Given the description of an element on the screen output the (x, y) to click on. 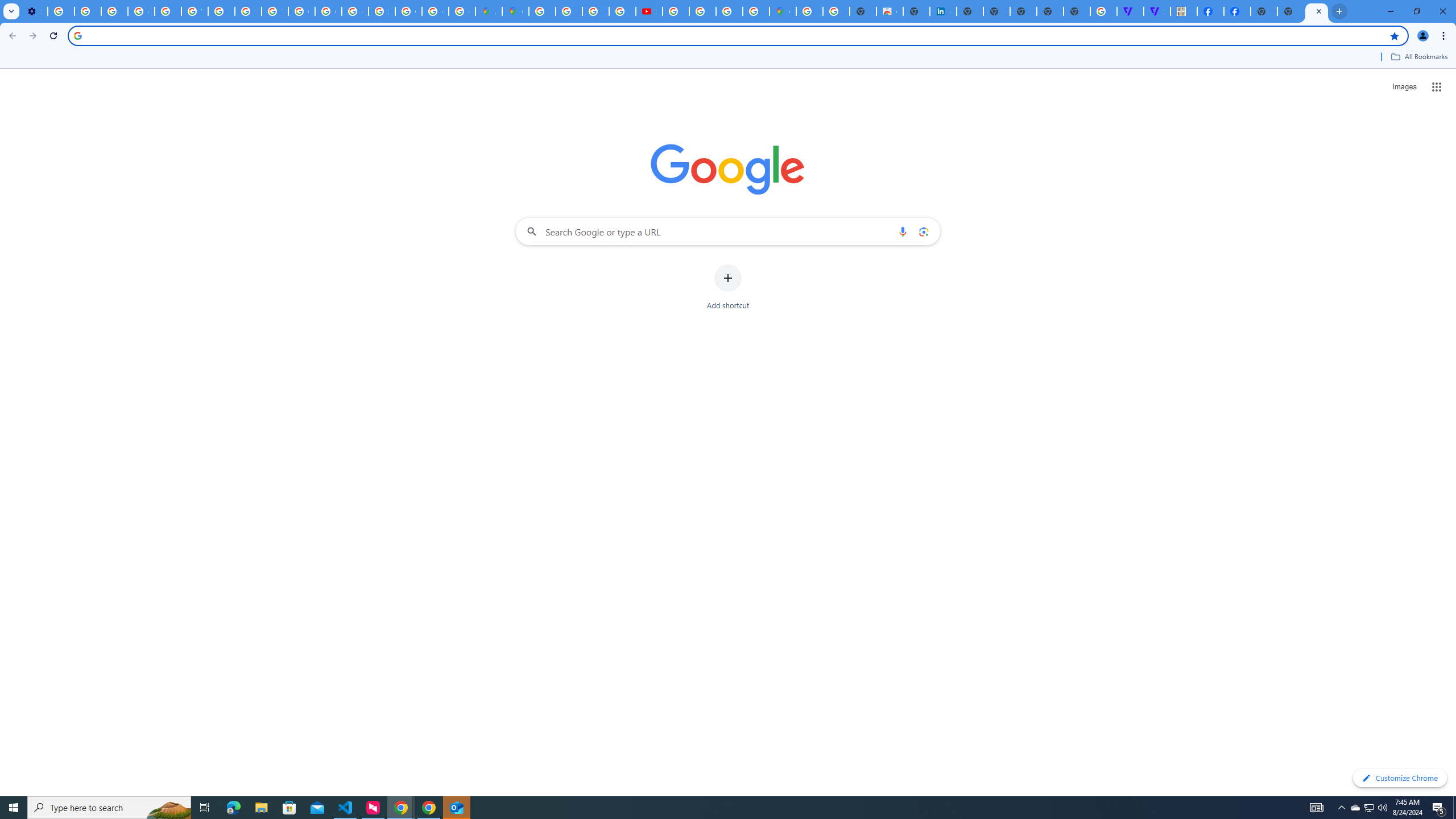
Google Maps (782, 11)
https://scholar.google.com/ (221, 11)
MILEY CYRUS. (1183, 11)
New Tab (1316, 11)
Cookie Policy | LinkedIn (943, 11)
YouTube (194, 11)
